Given the description of an element on the screen output the (x, y) to click on. 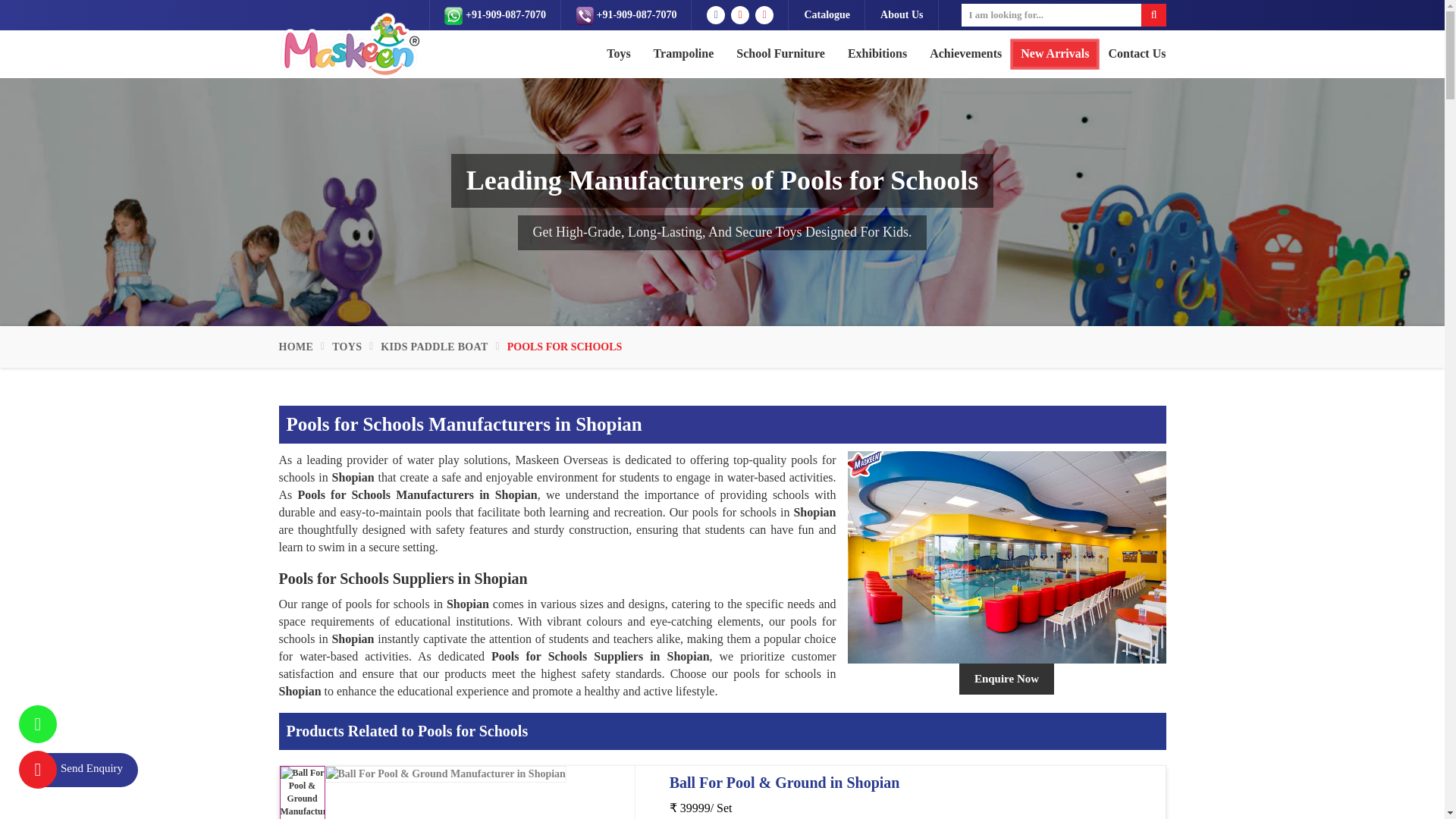
Message Now (494, 15)
About Us (901, 15)
Catalogue (826, 15)
Toys (618, 53)
instagram (764, 14)
Call Now (585, 15)
Toys (618, 53)
youtube (739, 14)
Maskeen Overseas (349, 45)
Facebook (715, 14)
About Us (901, 15)
Catalogue (826, 15)
Message Now (453, 15)
